Given the description of an element on the screen output the (x, y) to click on. 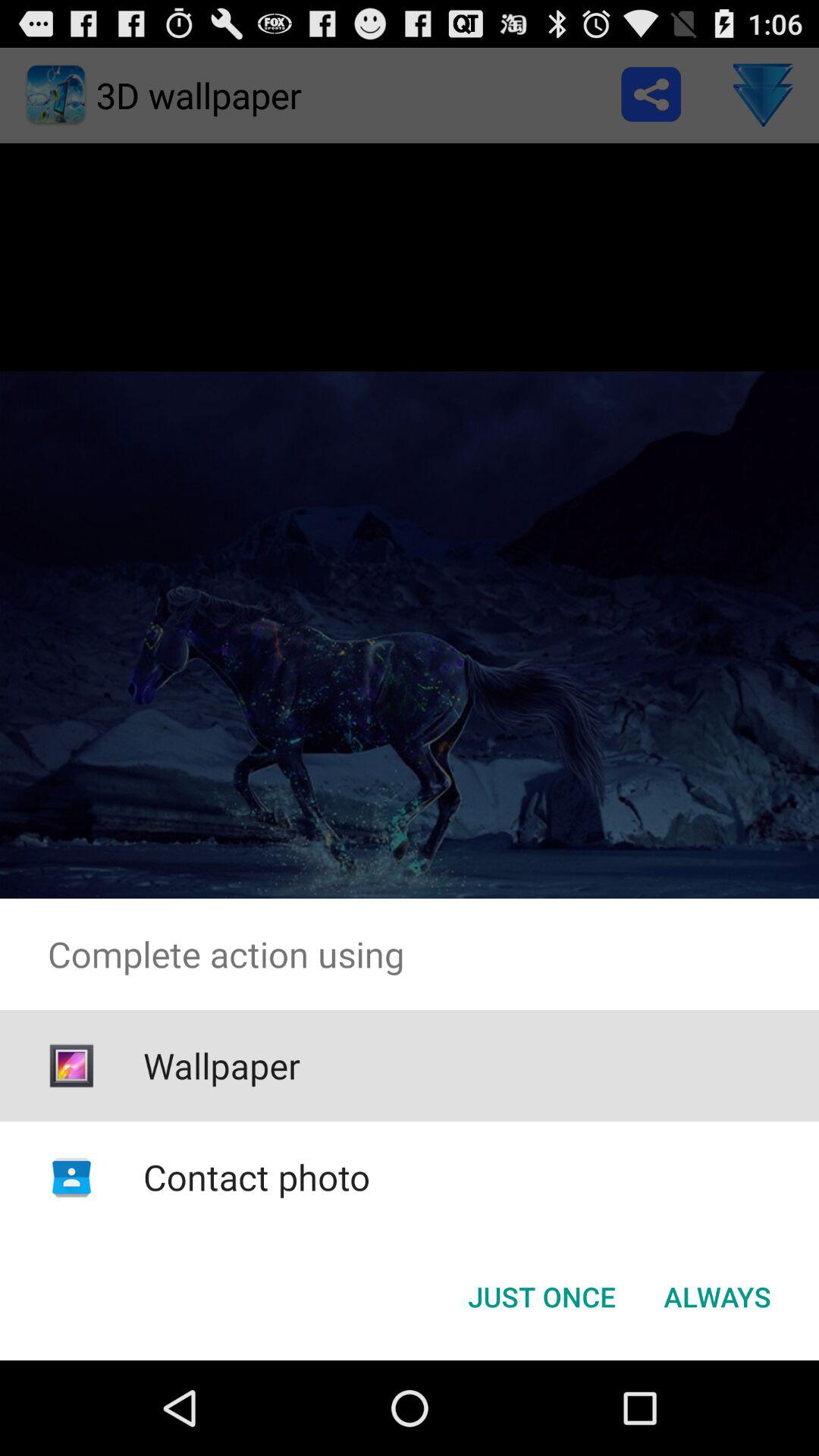
turn on icon below the wallpaper app (256, 1176)
